Given the description of an element on the screen output the (x, y) to click on. 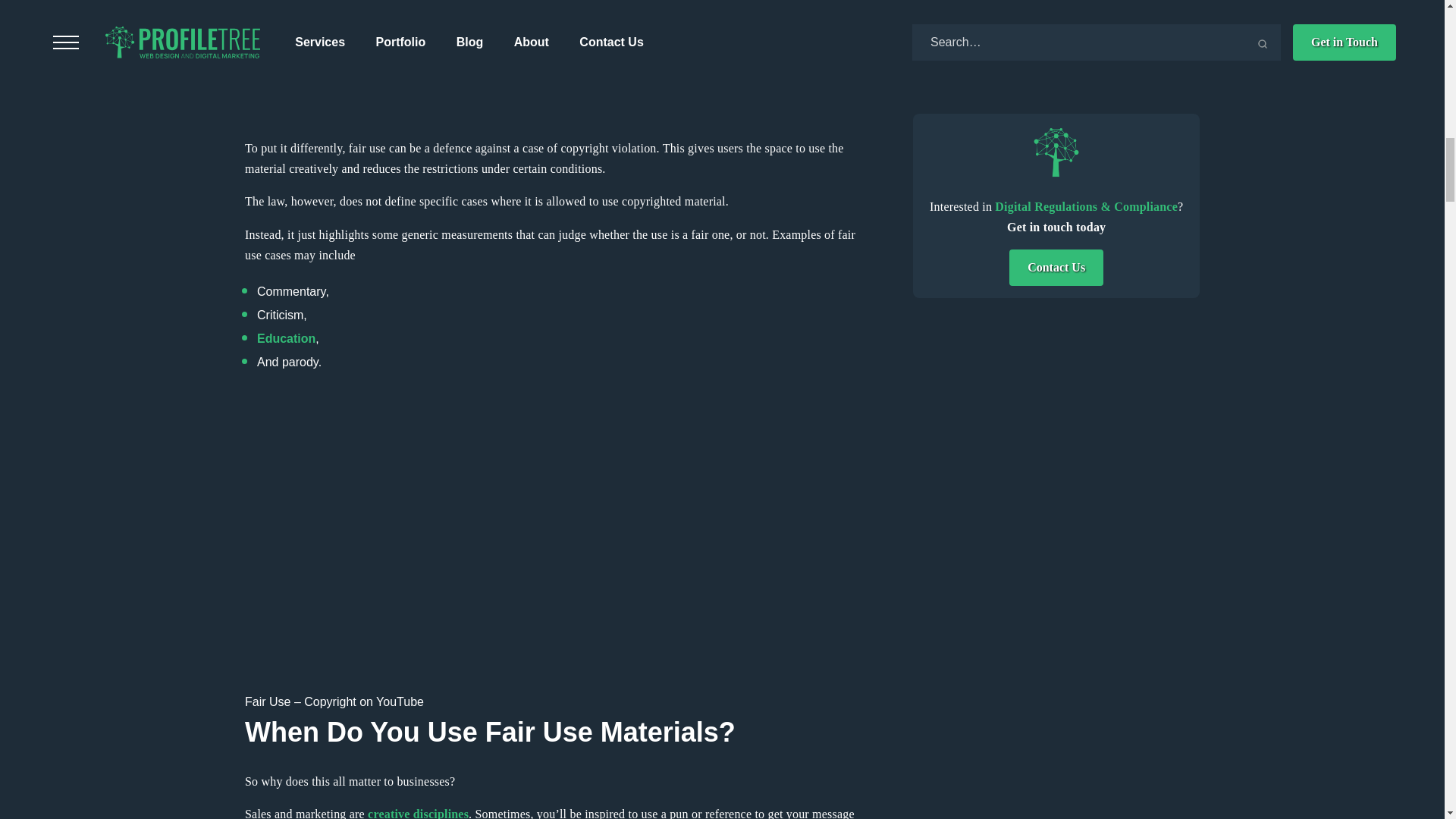
Education (286, 338)
